Given the description of an element on the screen output the (x, y) to click on. 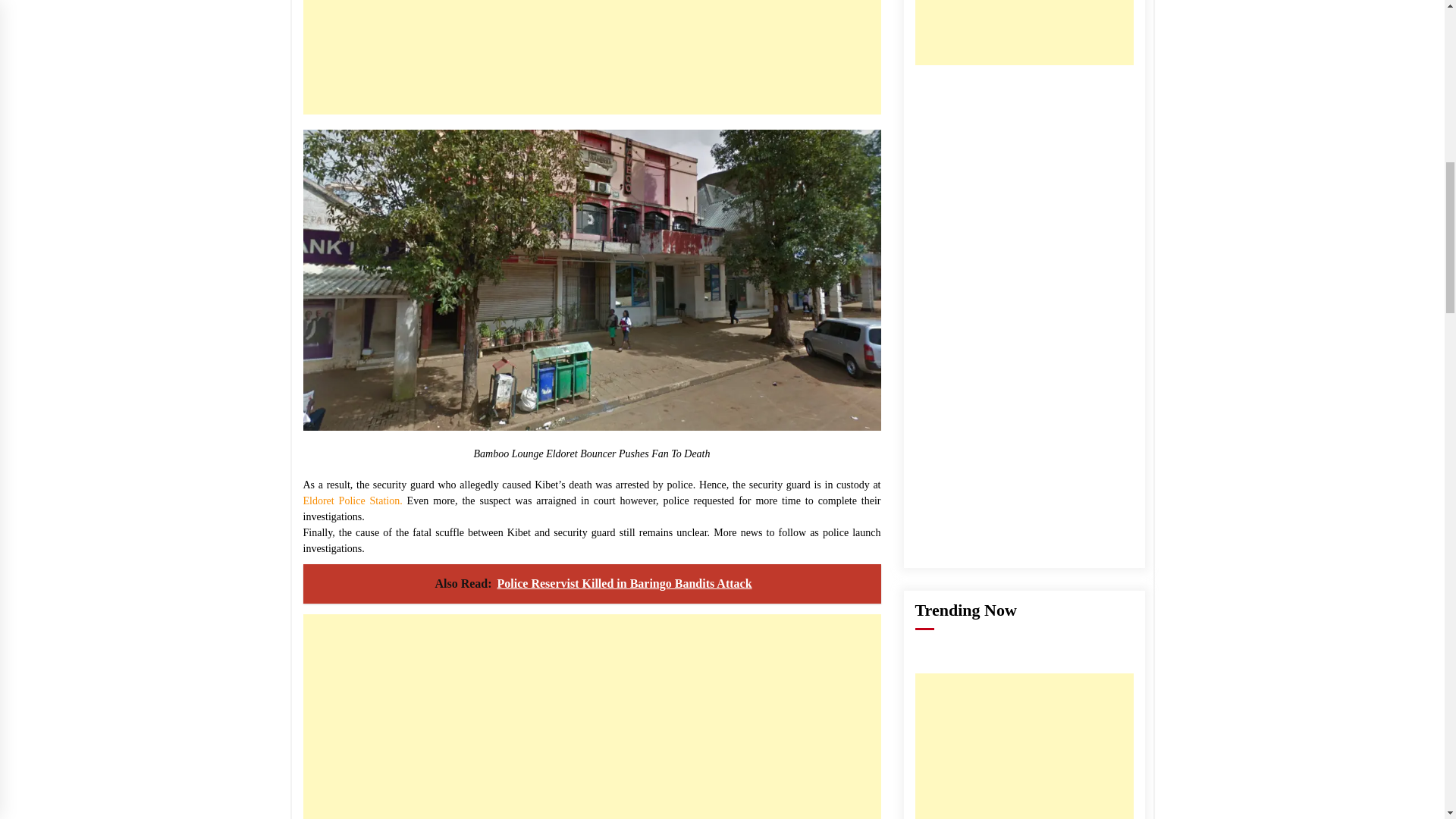
Advertisement (591, 57)
Advertisement (591, 716)
